Given the description of an element on the screen output the (x, y) to click on. 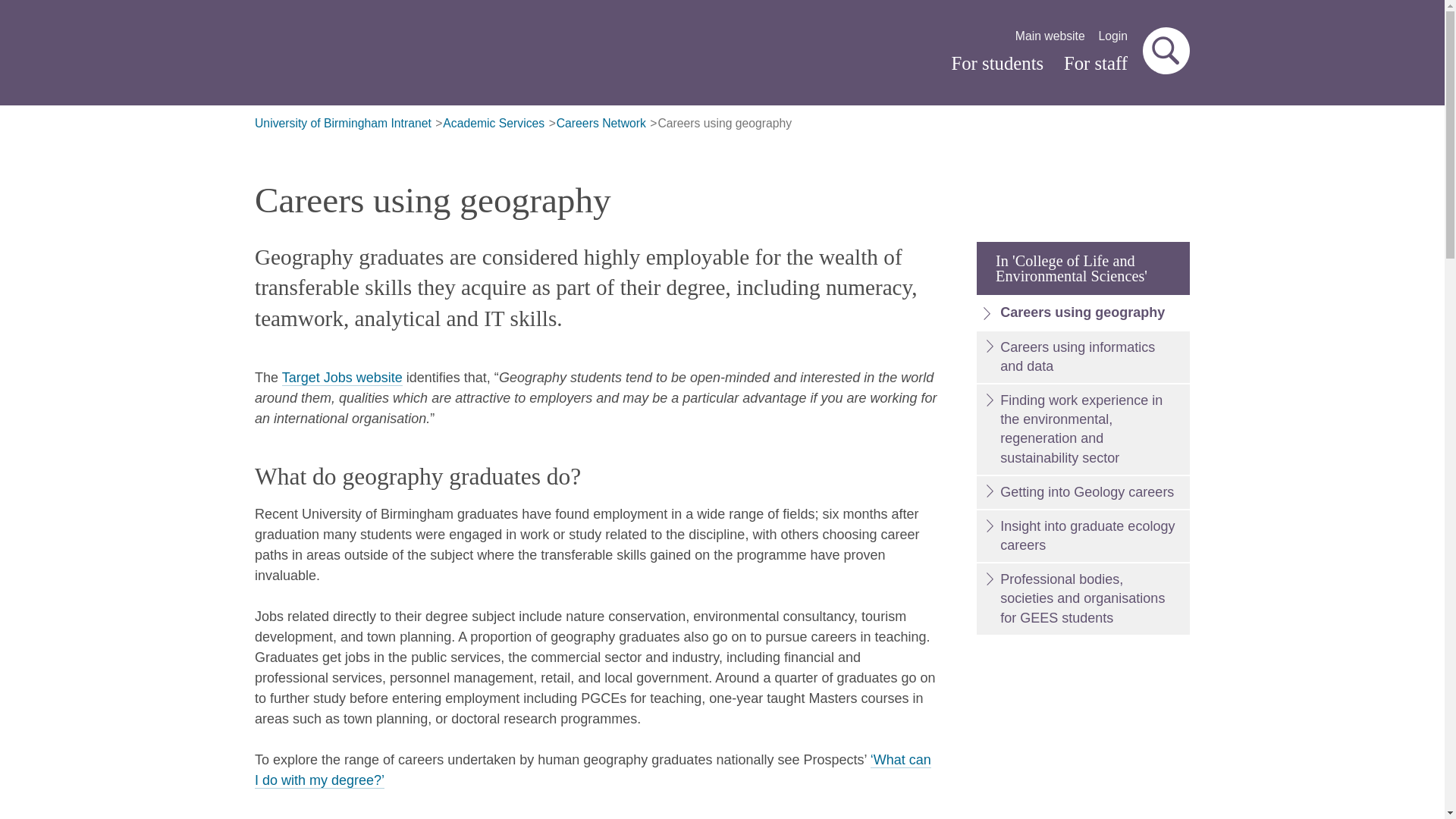
Careers using geography (1082, 312)
Academic Services (493, 123)
For students (996, 63)
University of Birmingham (420, 55)
Main website (1050, 36)
Target Jobs website (342, 377)
Careers using geography (725, 123)
Getting into Geology careers (1082, 491)
Careers using informatics and data (1082, 357)
Login (1112, 36)
Search (1165, 50)
For staff (1095, 63)
Careers Network (601, 123)
